Given the description of an element on the screen output the (x, y) to click on. 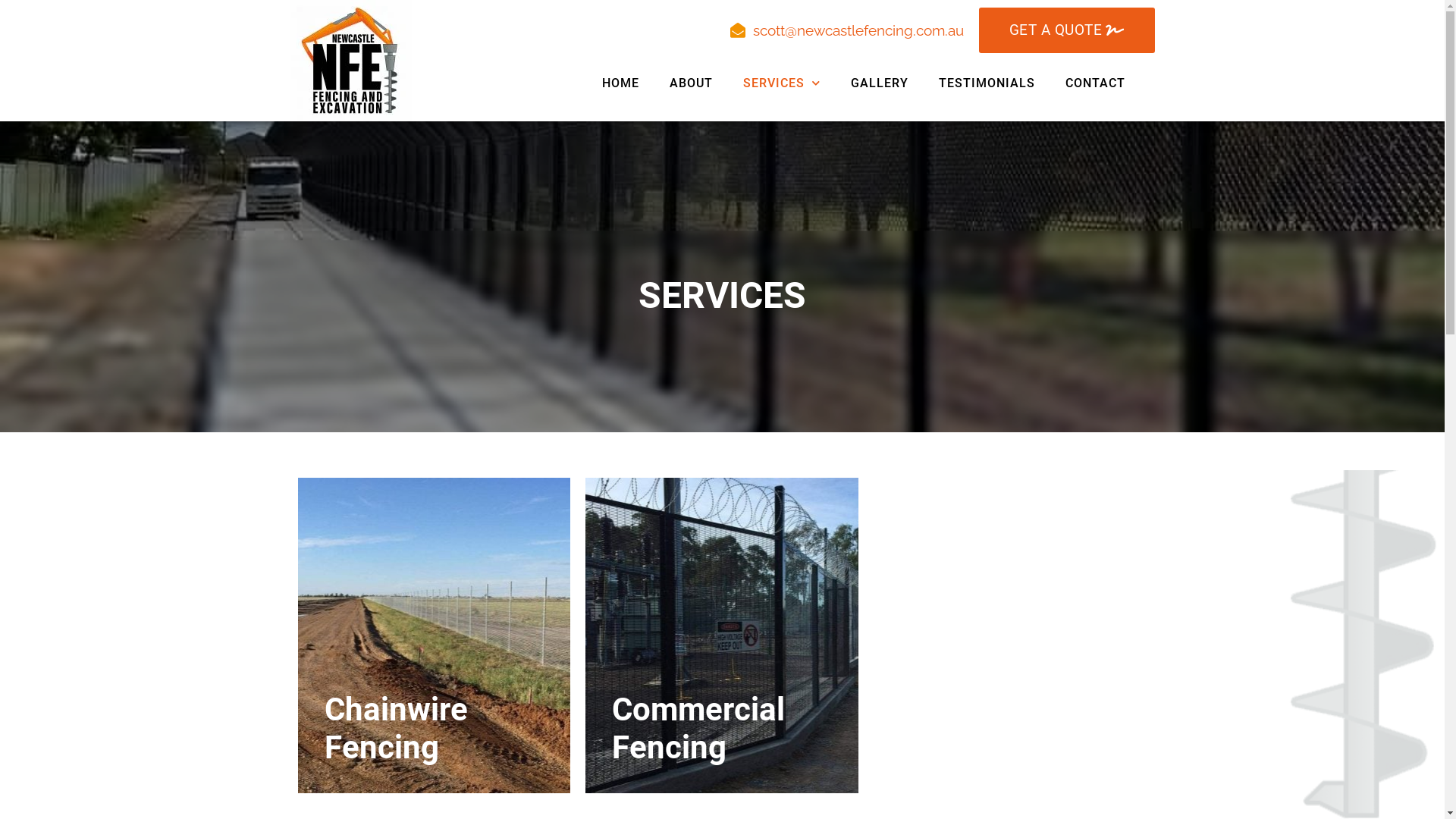
ABOUT Element type: text (691, 83)
Chainwire Fencing Element type: text (433, 635)
SERVICES Element type: text (781, 83)
Domestic Fencing Element type: text (1009, 635)
HOME Element type: text (620, 83)
Newcastle Fencing and Excavation Element type: hover (350, 60)
GALLERY Element type: text (879, 83)
Commercial Fencing Element type: text (721, 635)
CONTACT Element type: text (1095, 83)
TESTIMONIALS Element type: text (986, 83)
GET A QUOTE Element type: text (1066, 30)
scott@newcastlefencing.com.au Element type: text (846, 30)
